Given the description of an element on the screen output the (x, y) to click on. 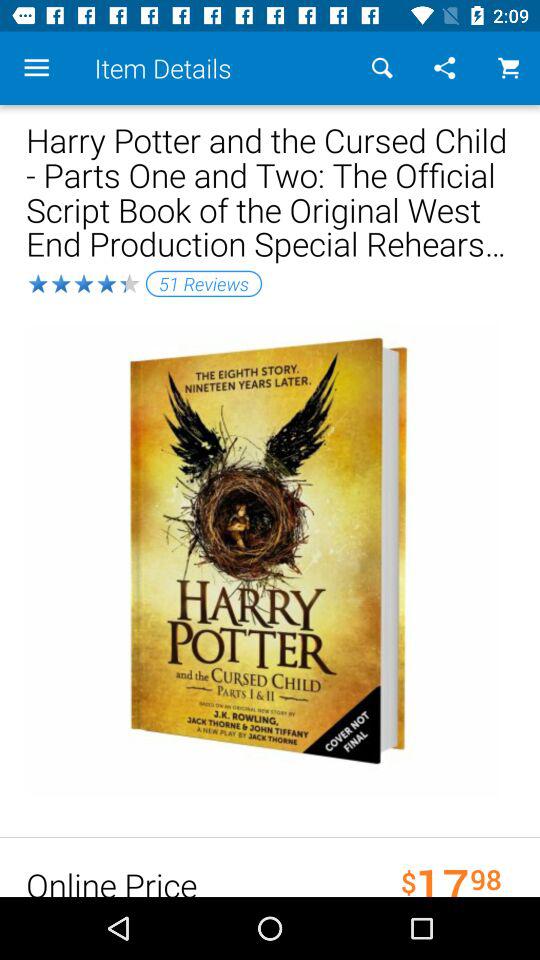
click item to the right of the item details (381, 67)
